Given the description of an element on the screen output the (x, y) to click on. 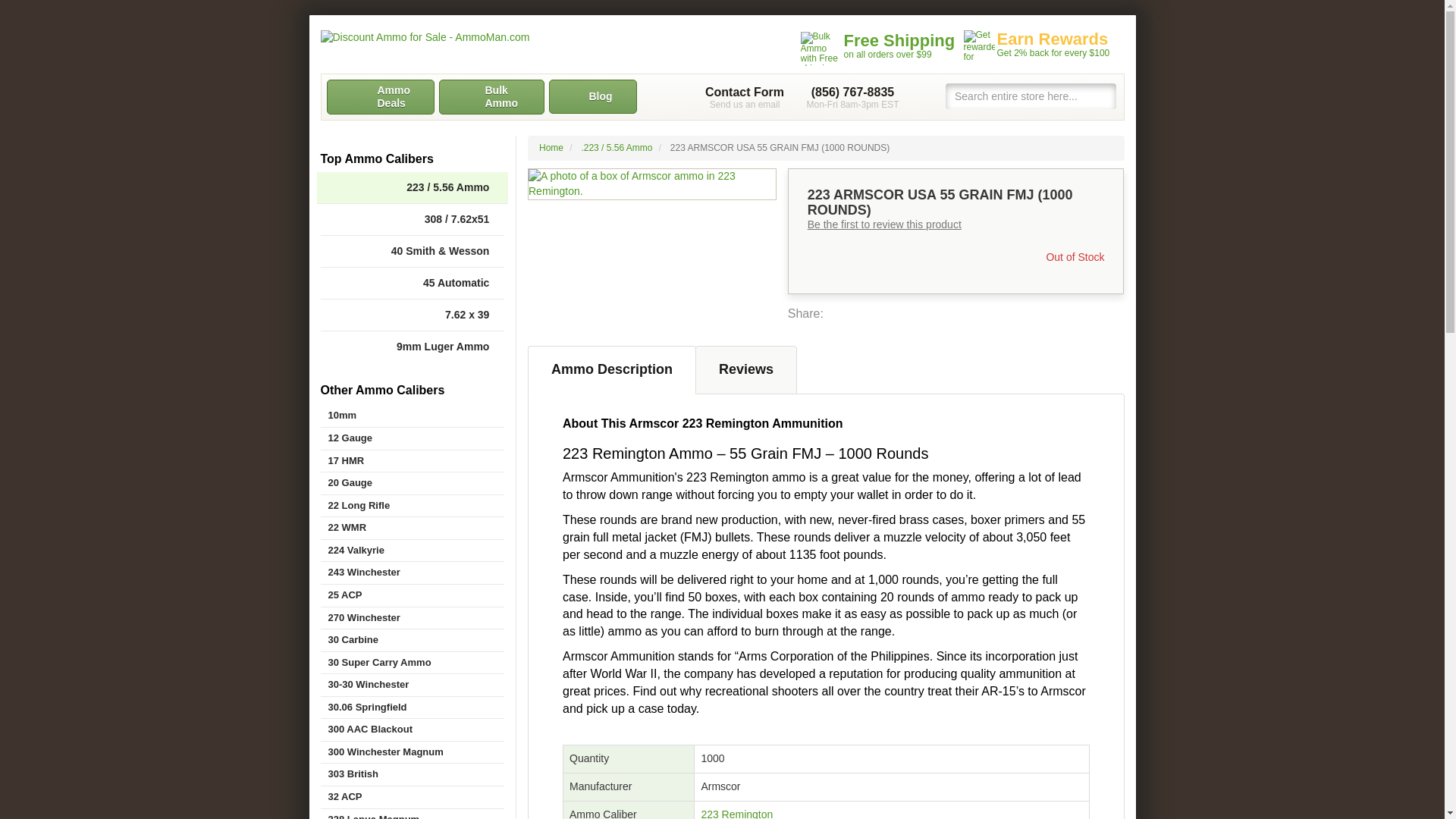
Search (1104, 95)
223 Remington (736, 813)
Discount Ammunition for Sale at AmmoMan.com (479, 37)
Bulk Ammo (490, 96)
224 Valkyrie (411, 550)
25 ACP (411, 595)
22 Long Rifle (411, 505)
243 Winchester (411, 572)
Home (550, 147)
Reviews (745, 369)
Ammo Description (611, 369)
Be the first to review this product (884, 224)
Blog (592, 96)
Ammo rewards program (1038, 45)
45 Automatic (411, 282)
